Given the description of an element on the screen output the (x, y) to click on. 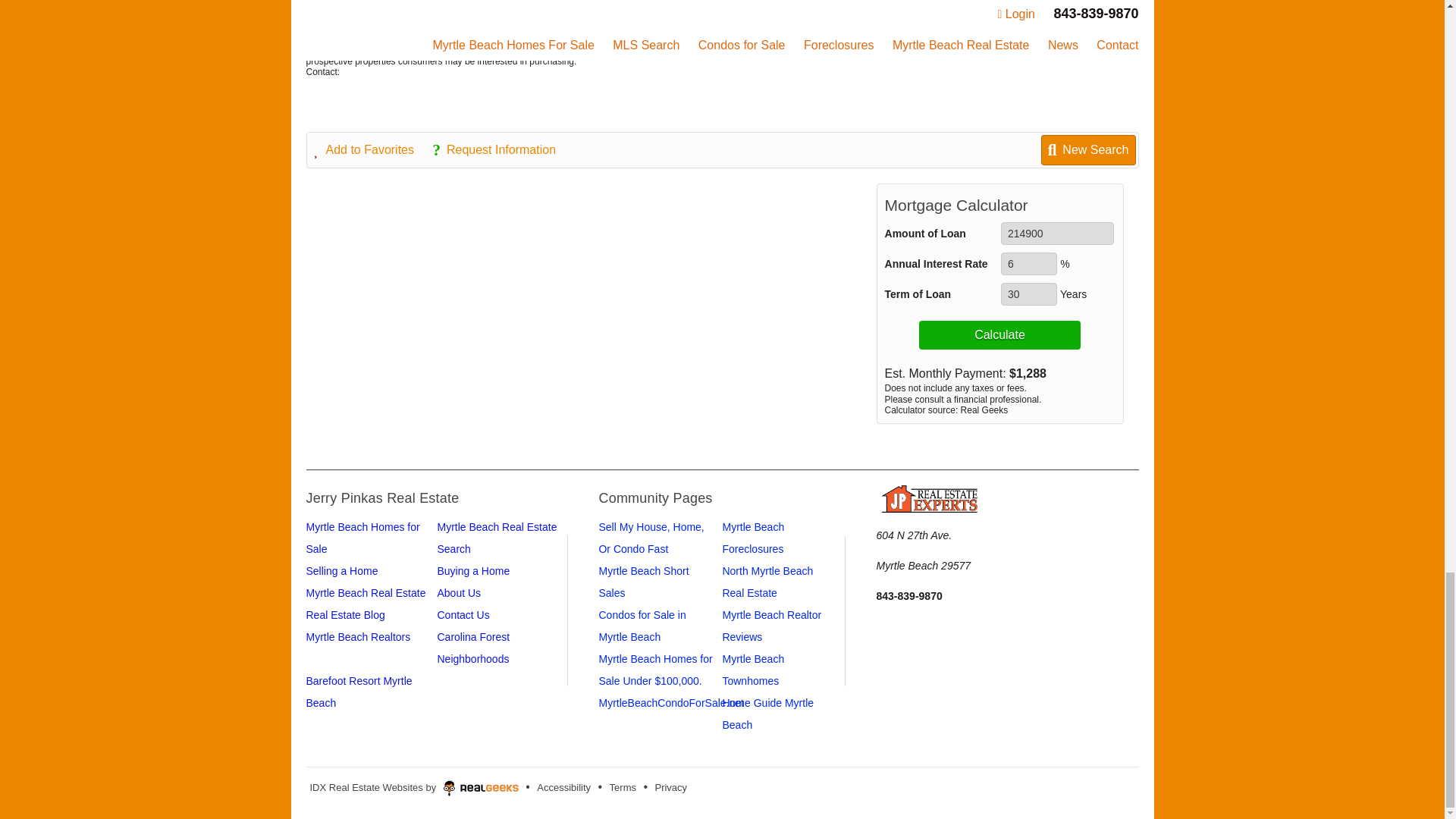
214900 (1057, 232)
6 (1029, 263)
30 (1029, 293)
